Given the description of an element on the screen output the (x, y) to click on. 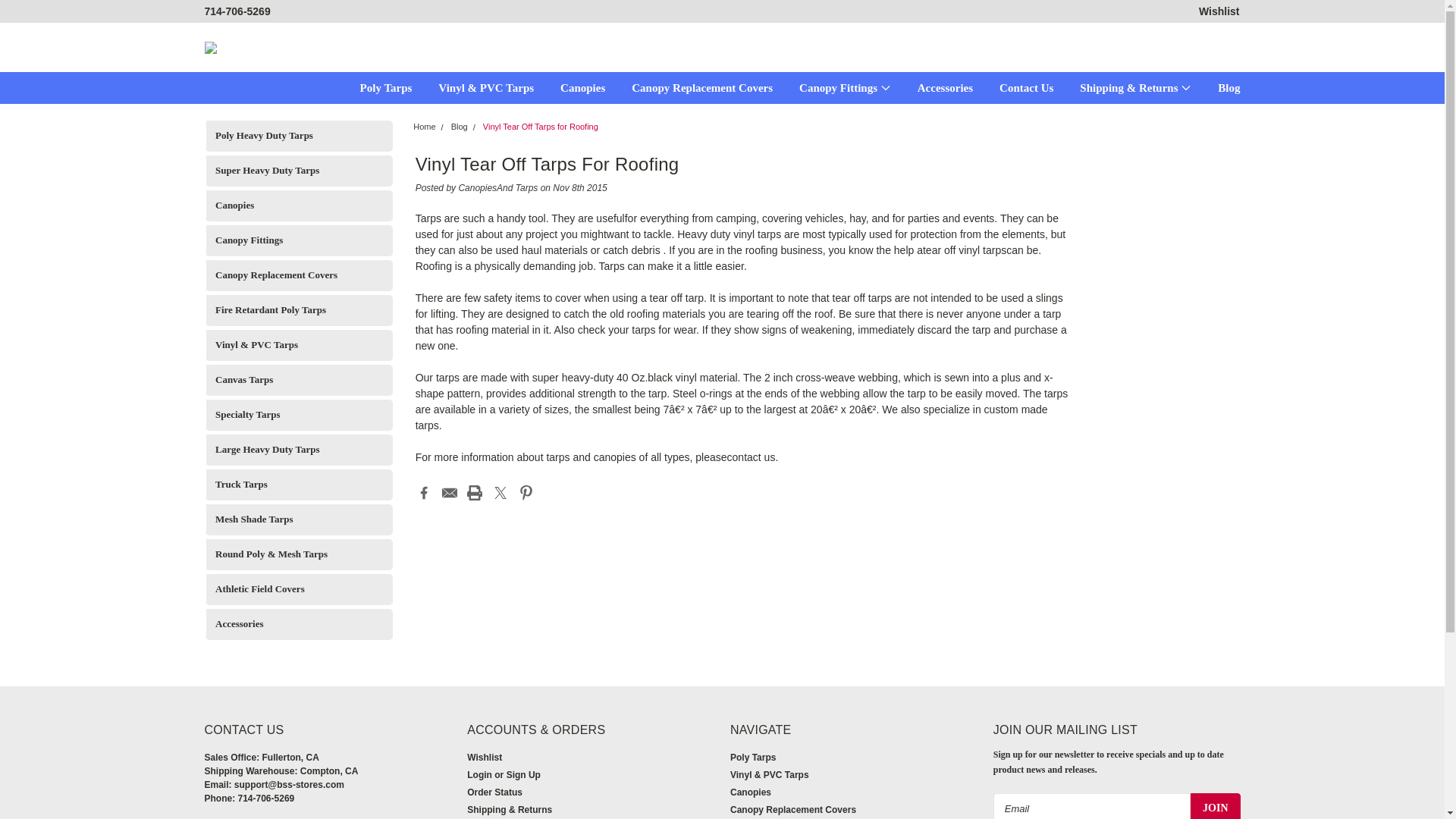
714-706-5269 (237, 10)
Facebook (423, 492)
Print (474, 492)
Twitter (500, 492)
Join (1215, 806)
Wishlist (1219, 10)
Canopies and Tarps (210, 46)
Pinterest (526, 492)
Email (449, 492)
